Given the description of an element on the screen output the (x, y) to click on. 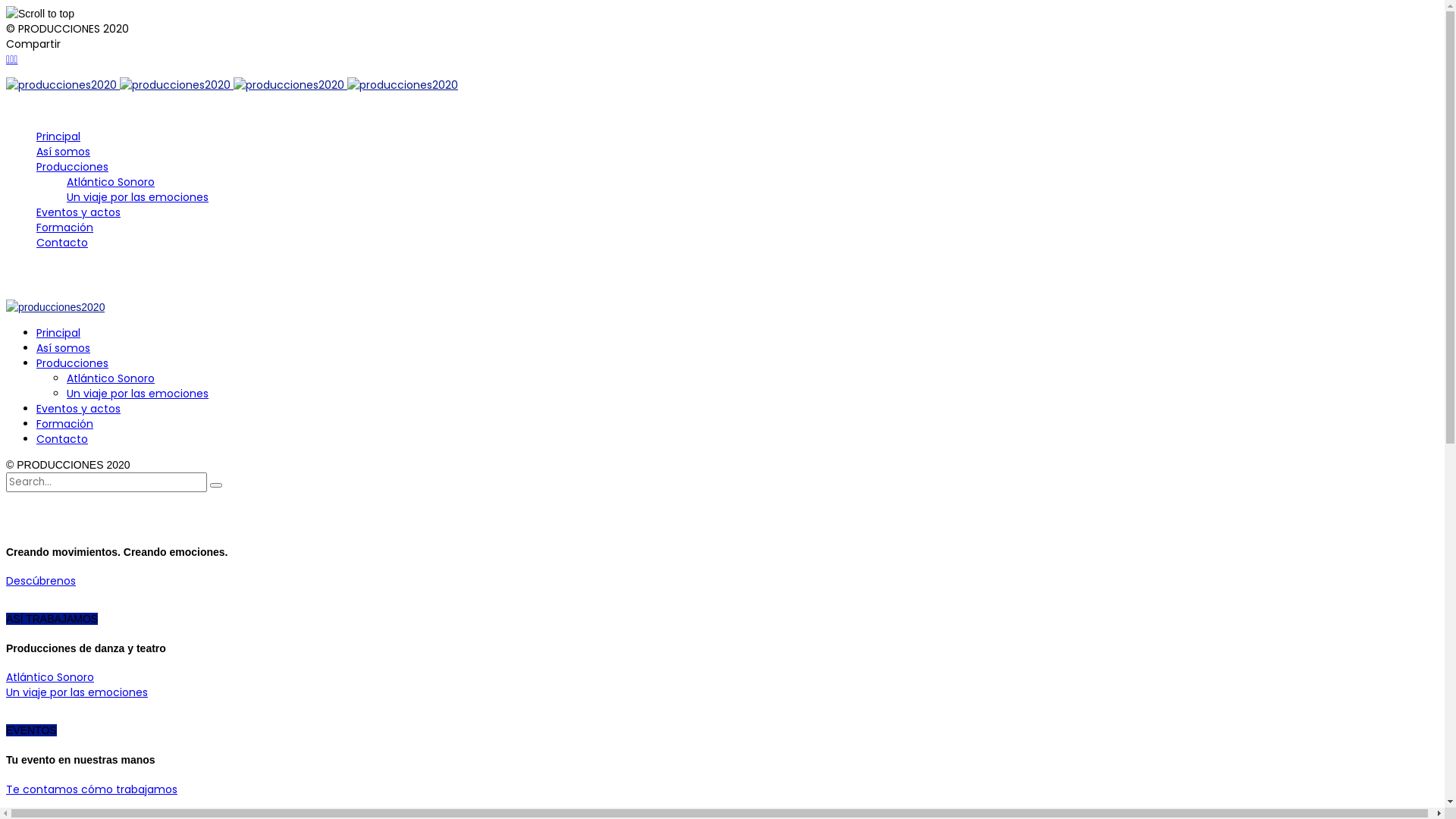
Principal Element type: text (58, 332)
Un viaje por las emociones Element type: text (137, 196)
Un viaje por las emociones Element type: text (137, 393)
Contacto Element type: text (61, 438)
Contacto Element type: text (61, 242)
Skip to content Element type: text (5, 76)
Un viaje por las emociones Element type: text (76, 691)
Eventos y actos Element type: text (78, 211)
Producciones Element type: text (72, 166)
Principal Element type: text (58, 136)
Eventos y actos Element type: text (78, 408)
Producciones Element type: text (72, 362)
